Given the description of an element on the screen output the (x, y) to click on. 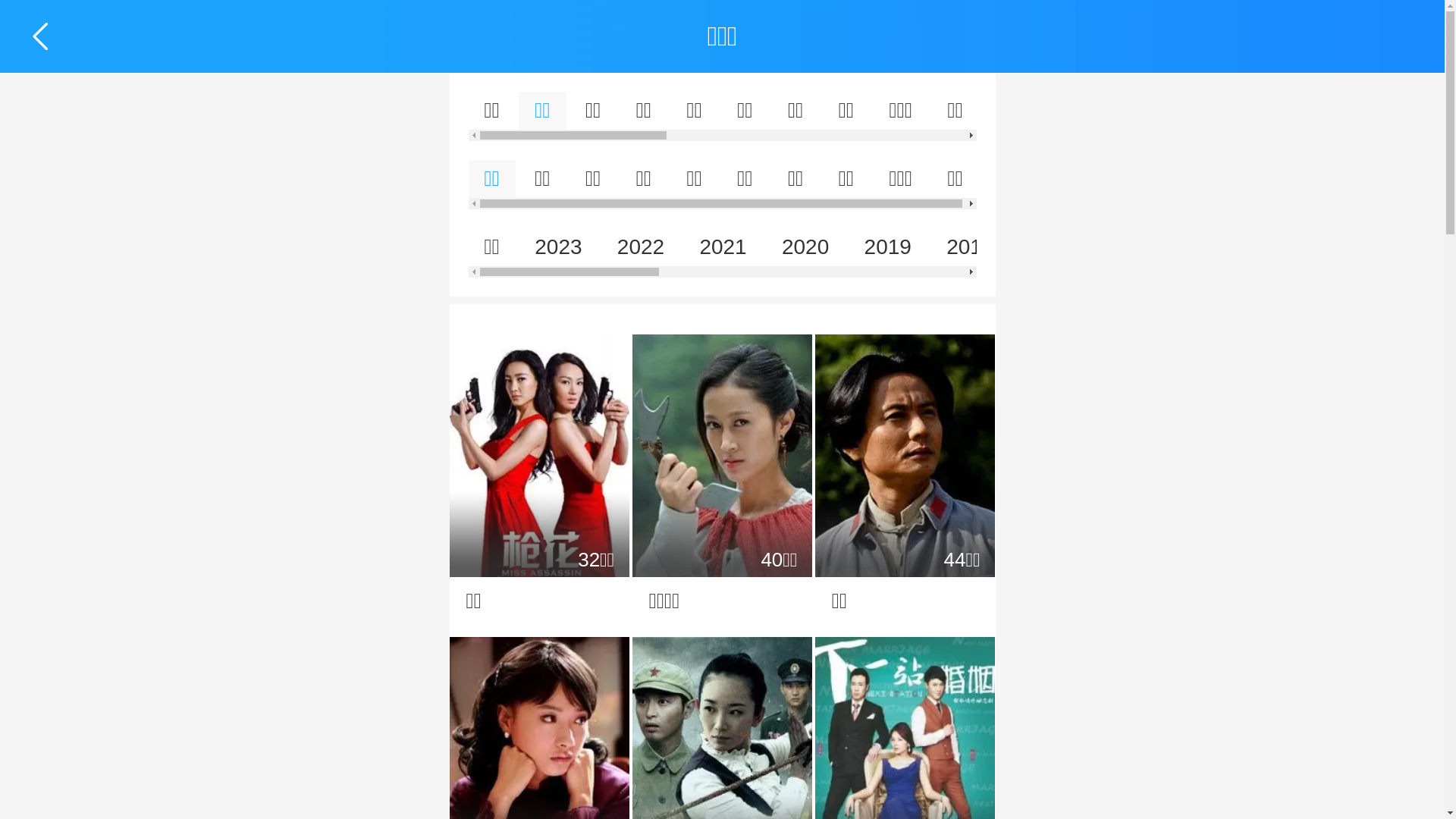
2017 Element type: text (1052, 247)
2013 Element type: text (1381, 247)
2019 Element type: text (887, 247)
2014 Element type: text (1298, 247)
2021 Element type: text (722, 247)
2018 Element type: text (969, 247)
2022 Element type: text (640, 247)
2023 Element type: text (557, 247)
2016 Element type: text (1134, 247)
2020 Element type: text (804, 247)
2015 Element type: text (1216, 247)
